Given the description of an element on the screen output the (x, y) to click on. 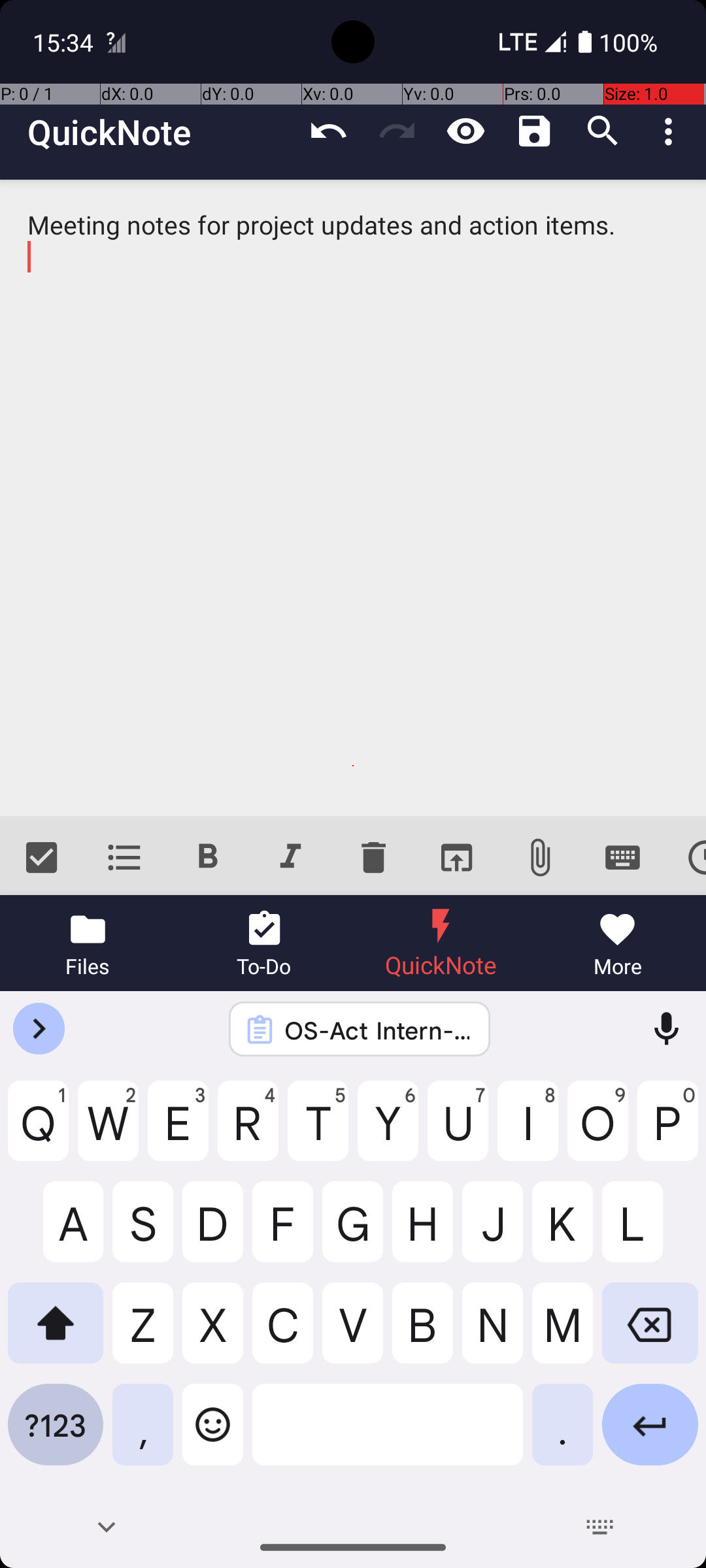
Meeting notes for project updates and action items.
 Element type: android.widget.EditText (353, 497)
OS-Act	Intern-VL2-4B	✅	240913-3 (OOD) OS-Act	Intern-VL2-4B	✅	240913-4 (OOD) OS-Act	Intern-VL2-4B	✅	240914-1 (OOD) Element type: android.widget.TextView (376, 1029)
